Given the description of an element on the screen output the (x, y) to click on. 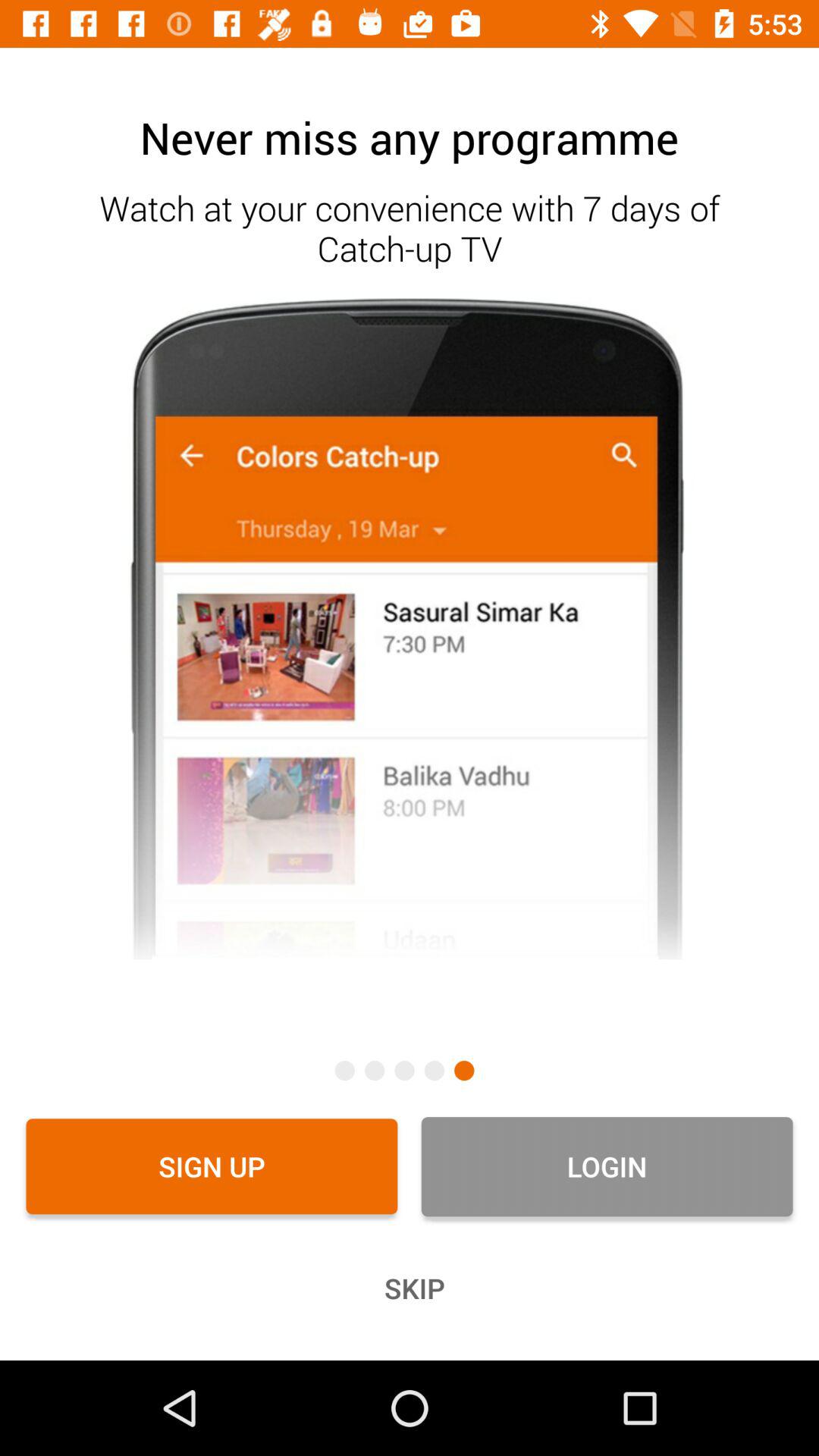
select icon next to the login (211, 1166)
